Given the description of an element on the screen output the (x, y) to click on. 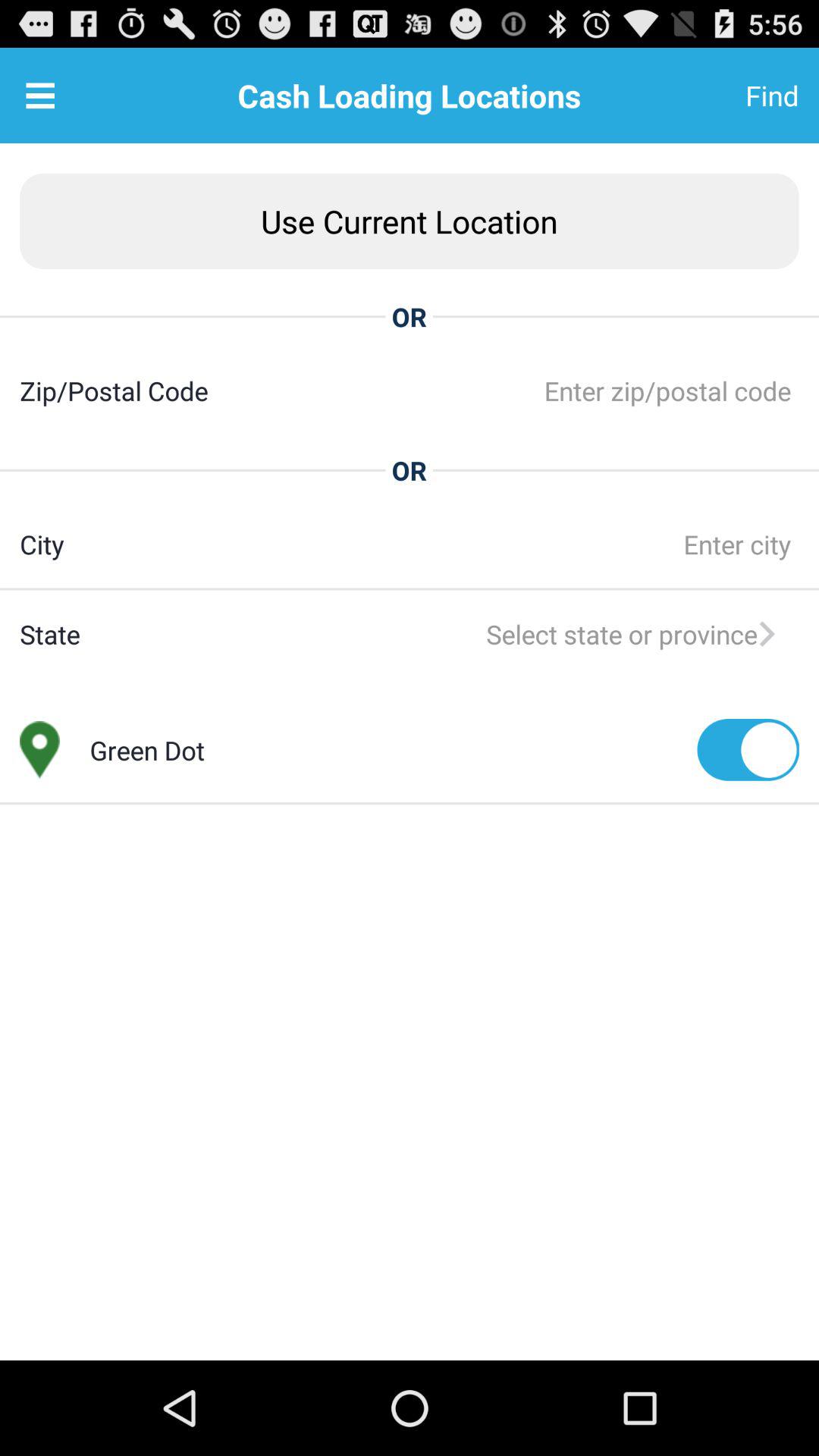
click the app to the right of zip/postal code (503, 390)
